Given the description of an element on the screen output the (x, y) to click on. 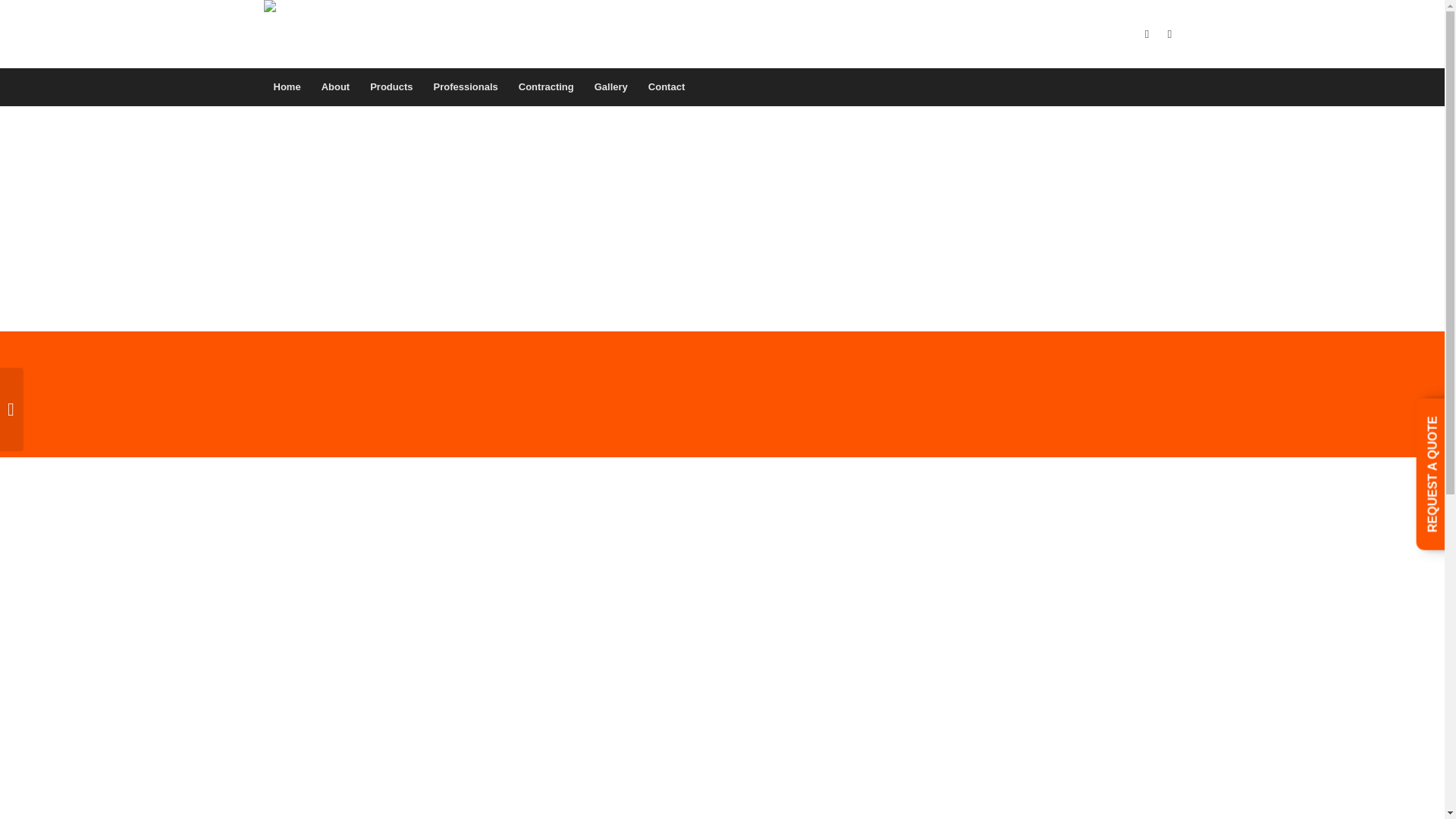
Contracting (545, 86)
Professionals (465, 86)
WhatsApp (1169, 33)
Products (390, 86)
About (335, 86)
Facebook (1146, 33)
Contact (665, 86)
Gallery (610, 86)
Home (287, 86)
